Given the description of an element on the screen output the (x, y) to click on. 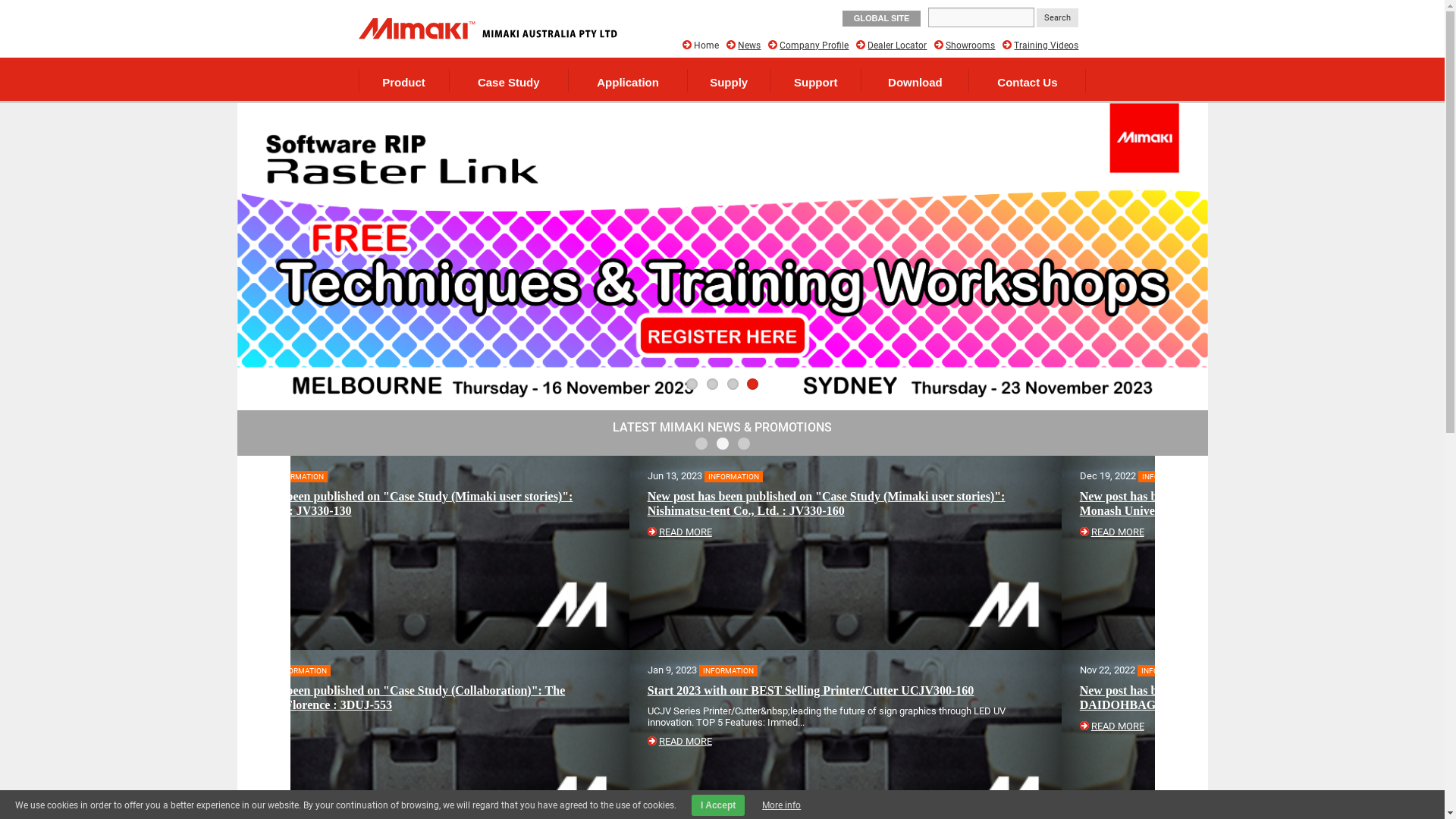
News Element type: text (748, 45)
1 Element type: text (700, 443)
Showrooms Element type: text (969, 45)
Application Element type: text (627, 80)
INFORMATION Element type: text (389, 670)
READ MORE Element type: text (339, 725)
Product Element type: text (404, 80)
Support Element type: text (815, 80)
2 Element type: text (712, 383)
INFORMATION Element type: text (823, 670)
Company Profile Element type: text (813, 45)
Training Videos Element type: text (1045, 45)
More info Element type: text (781, 805)
3 Element type: text (731, 383)
I Accept Element type: text (717, 804)
Download Element type: text (914, 80)
4 Element type: text (752, 383)
2 Element type: text (721, 443)
INFORMATION Element type: text (822, 476)
Contact Us Element type: text (1026, 80)
1 Element type: text (691, 383)
Supply Element type: text (728, 80)
INFORMATION Element type: text (394, 476)
READ MORE Element type: text (772, 531)
3 Element type: text (743, 443)
READ MORE Element type: text (772, 725)
Case Study Element type: text (508, 80)
Search Element type: text (1057, 17)
READ MORE Element type: text (339, 531)
Dealer Locator Element type: text (896, 45)
GLOBAL SITE Element type: text (881, 18)
